Given the description of an element on the screen output the (x, y) to click on. 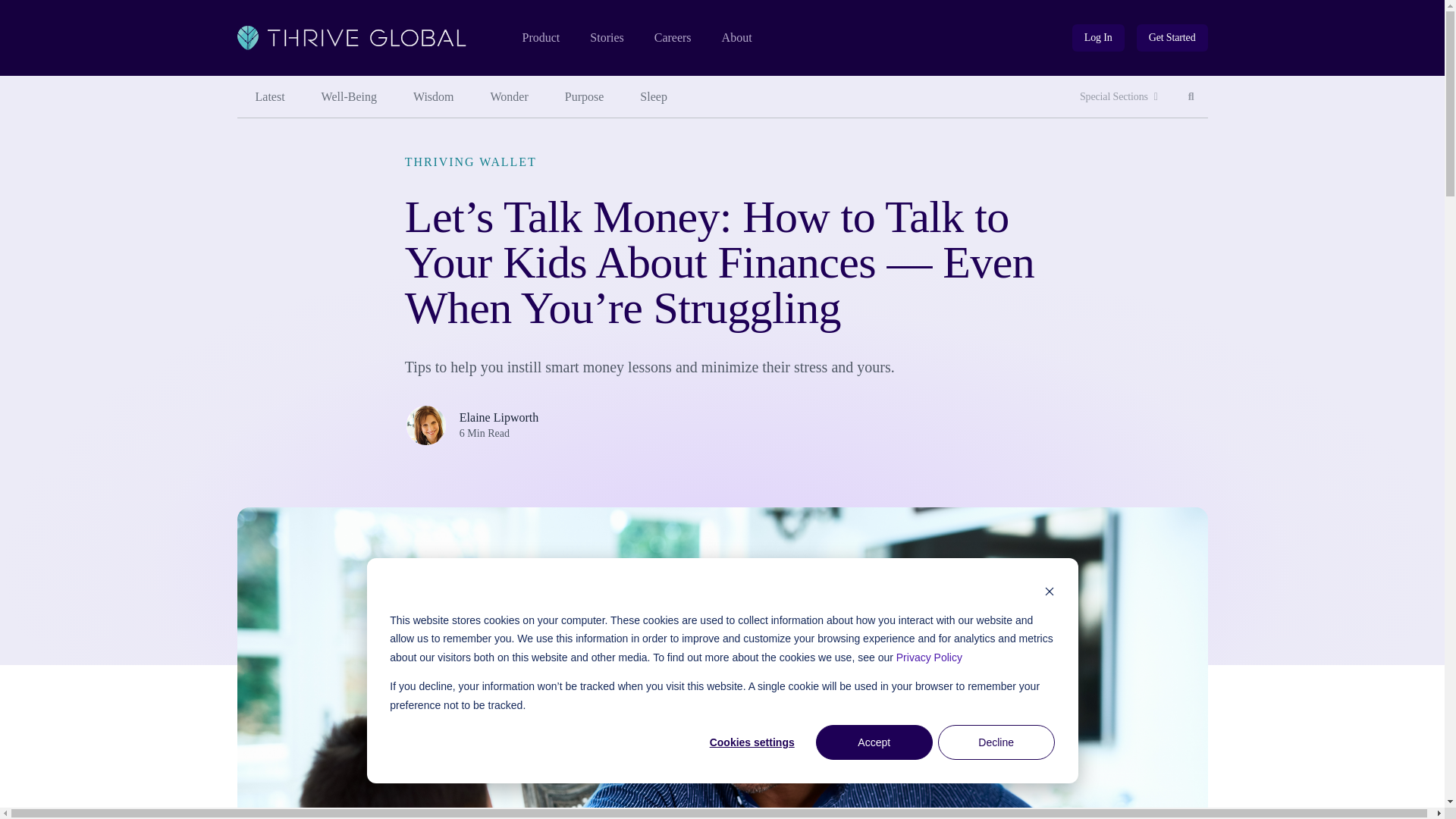
Latest (268, 96)
btn-info (1097, 37)
Well-Being (348, 96)
Purpose (1191, 97)
Sleep (585, 96)
Wisdom (653, 96)
Log In (432, 96)
Wonder (1097, 37)
btn-primary (509, 96)
Stories (1172, 37)
Special Sections (606, 37)
Careers (1118, 97)
Product (672, 37)
About (540, 37)
